Given the description of an element on the screen output the (x, y) to click on. 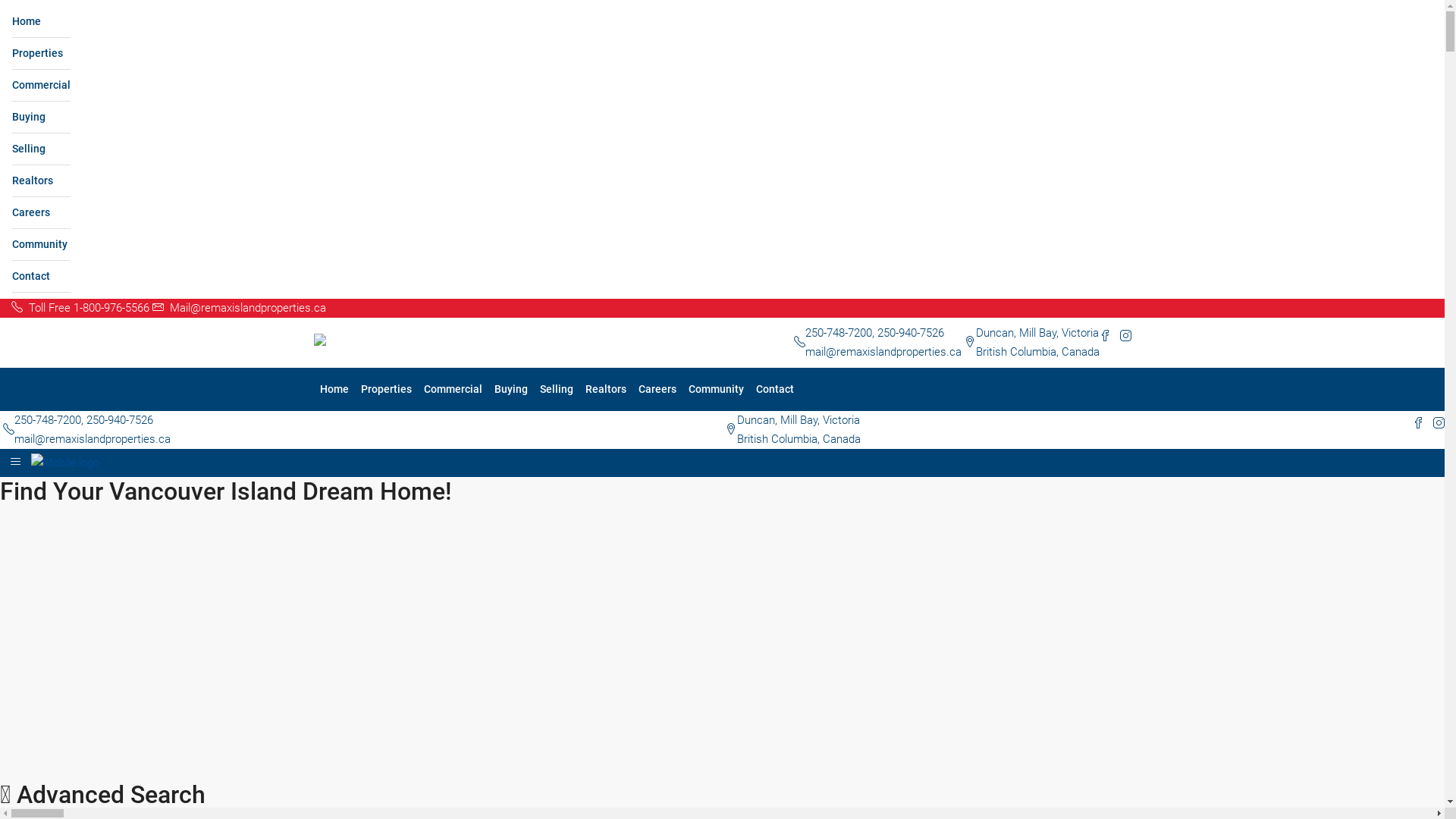
250-748-7200, 250-940-7526 Element type: text (874, 332)
Home Element type: text (333, 388)
Commercial Element type: text (452, 388)
Careers Element type: text (657, 388)
Toll Free 1-800-976-5566 Element type: text (81, 307)
250-748-7200, 250-940-7526 Element type: text (83, 419)
Realtors Element type: text (605, 388)
Community Element type: text (41, 244)
Home Element type: text (41, 21)
mail@remaxislandproperties.ca Element type: text (883, 351)
Properties Element type: text (385, 388)
Selling Element type: text (556, 388)
Selling Element type: text (41, 149)
Careers Element type: text (41, 213)
Buying Element type: text (41, 117)
Contact Element type: text (41, 276)
Buying Element type: text (510, 388)
Contact Element type: text (774, 388)
Commercial Element type: text (41, 85)
Properties Element type: text (41, 53)
Mail@remaxislandproperties.ca Element type: text (239, 307)
Realtors Element type: text (41, 181)
Community Element type: text (715, 388)
mail@remaxislandproperties.ca Element type: text (92, 438)
